Given the description of an element on the screen output the (x, y) to click on. 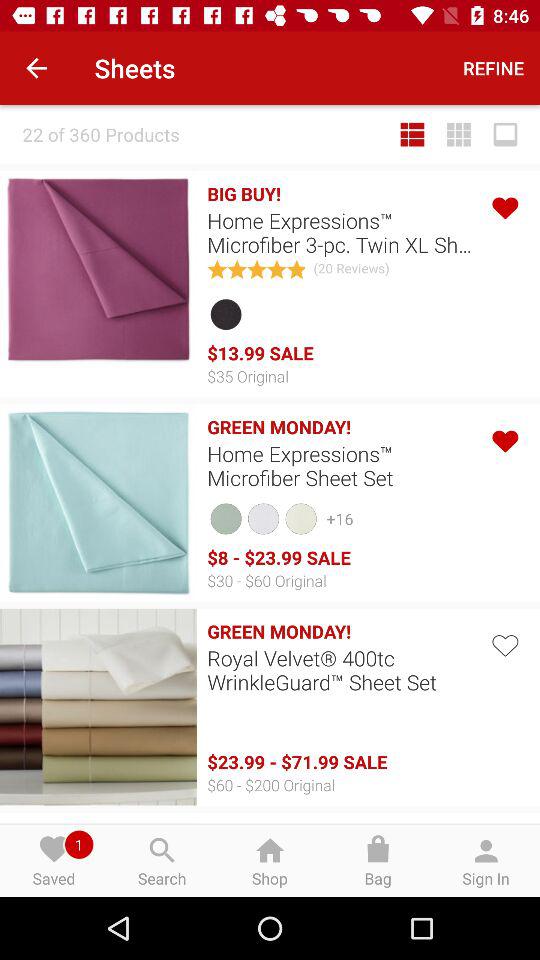
like (504, 438)
